Given the description of an element on the screen output the (x, y) to click on. 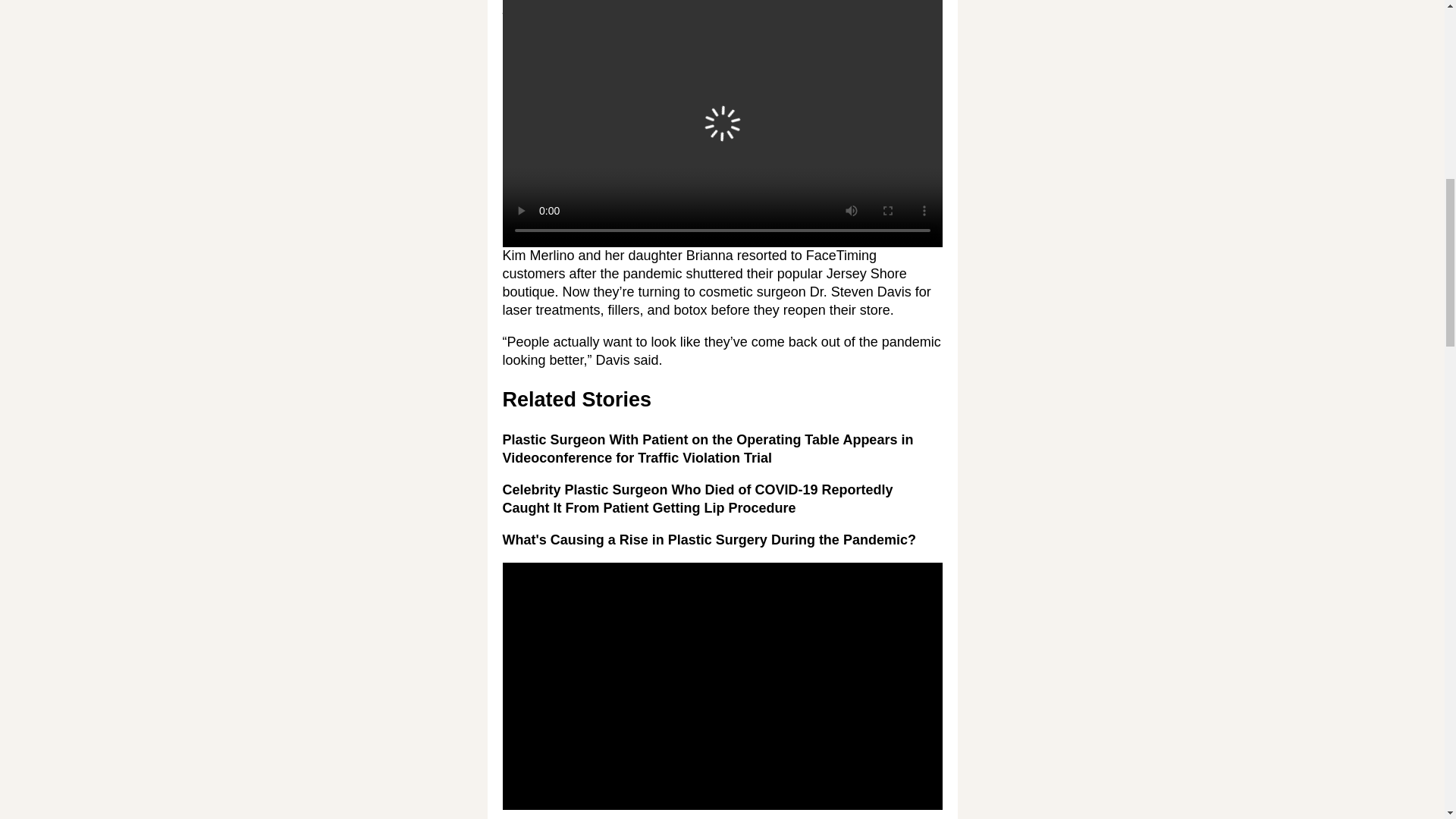
3rd party ad content (721, 134)
